Given the description of an element on the screen output the (x, y) to click on. 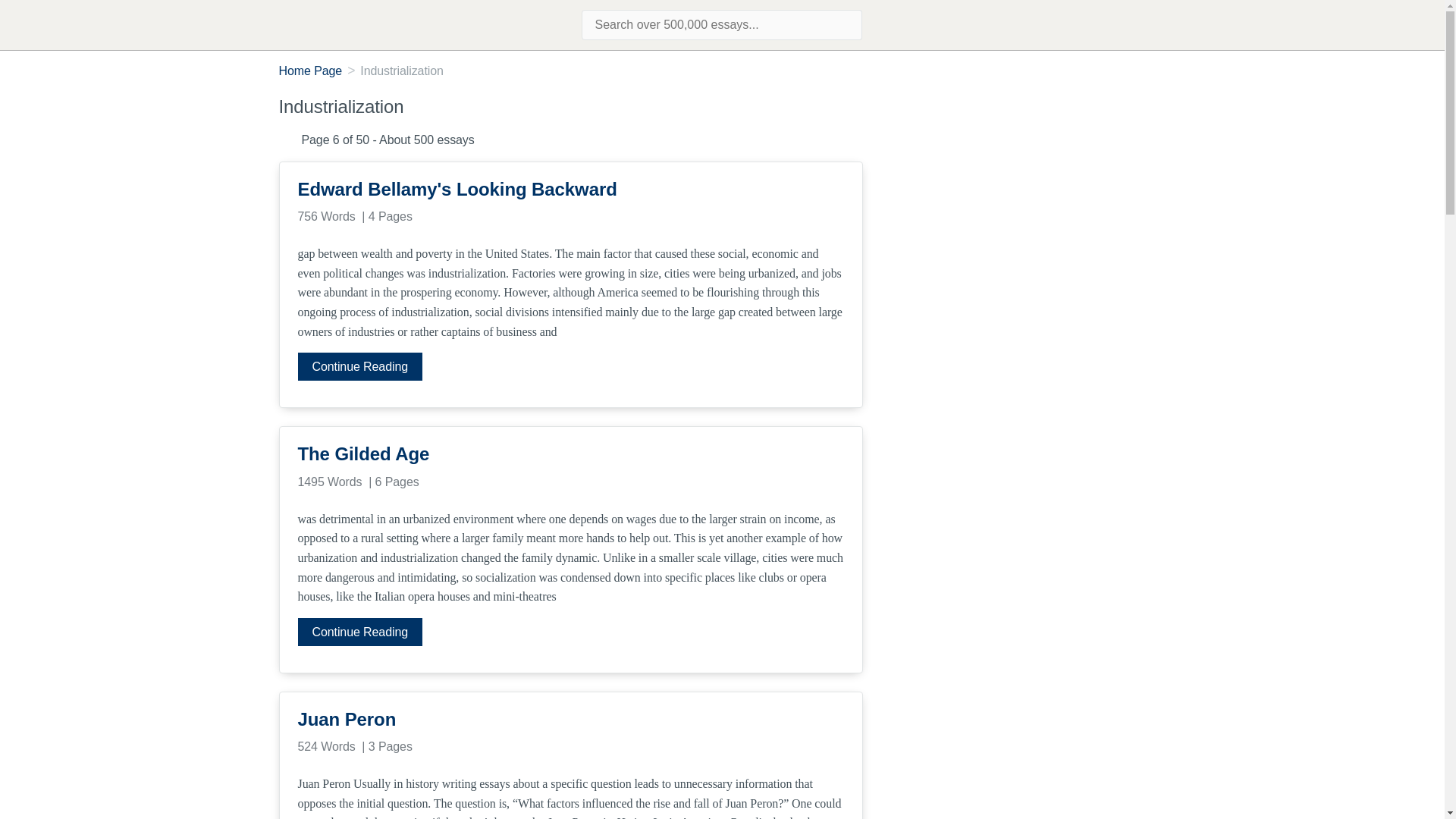
Home Page (310, 70)
Edward Bellamy's Looking Backward (570, 189)
The Gilded Age (570, 454)
Continue Reading (359, 366)
Juan Peron (570, 719)
Continue Reading (359, 632)
